Given the description of an element on the screen output the (x, y) to click on. 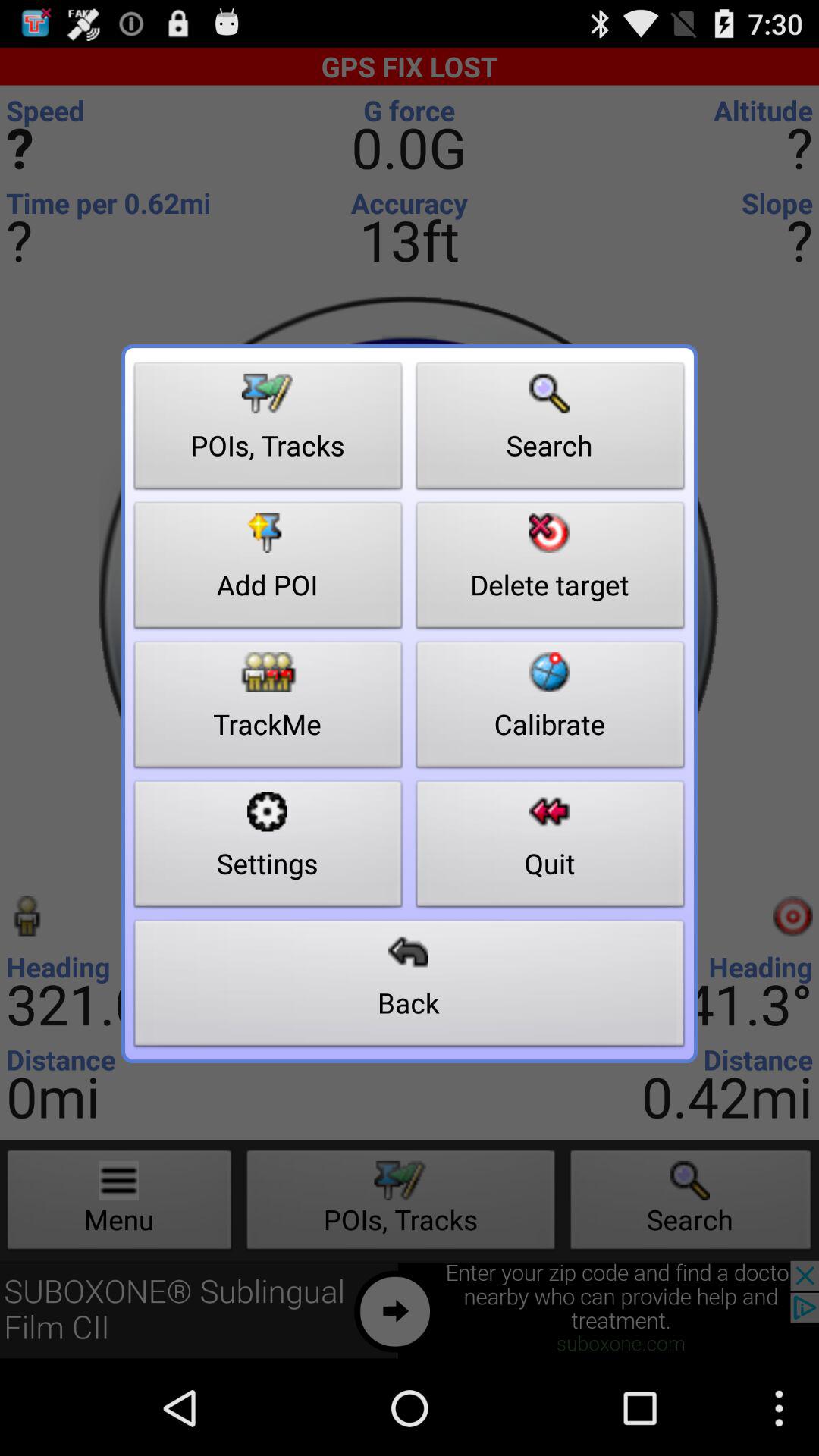
scroll to the calibrate button (550, 708)
